Given the description of an element on the screen output the (x, y) to click on. 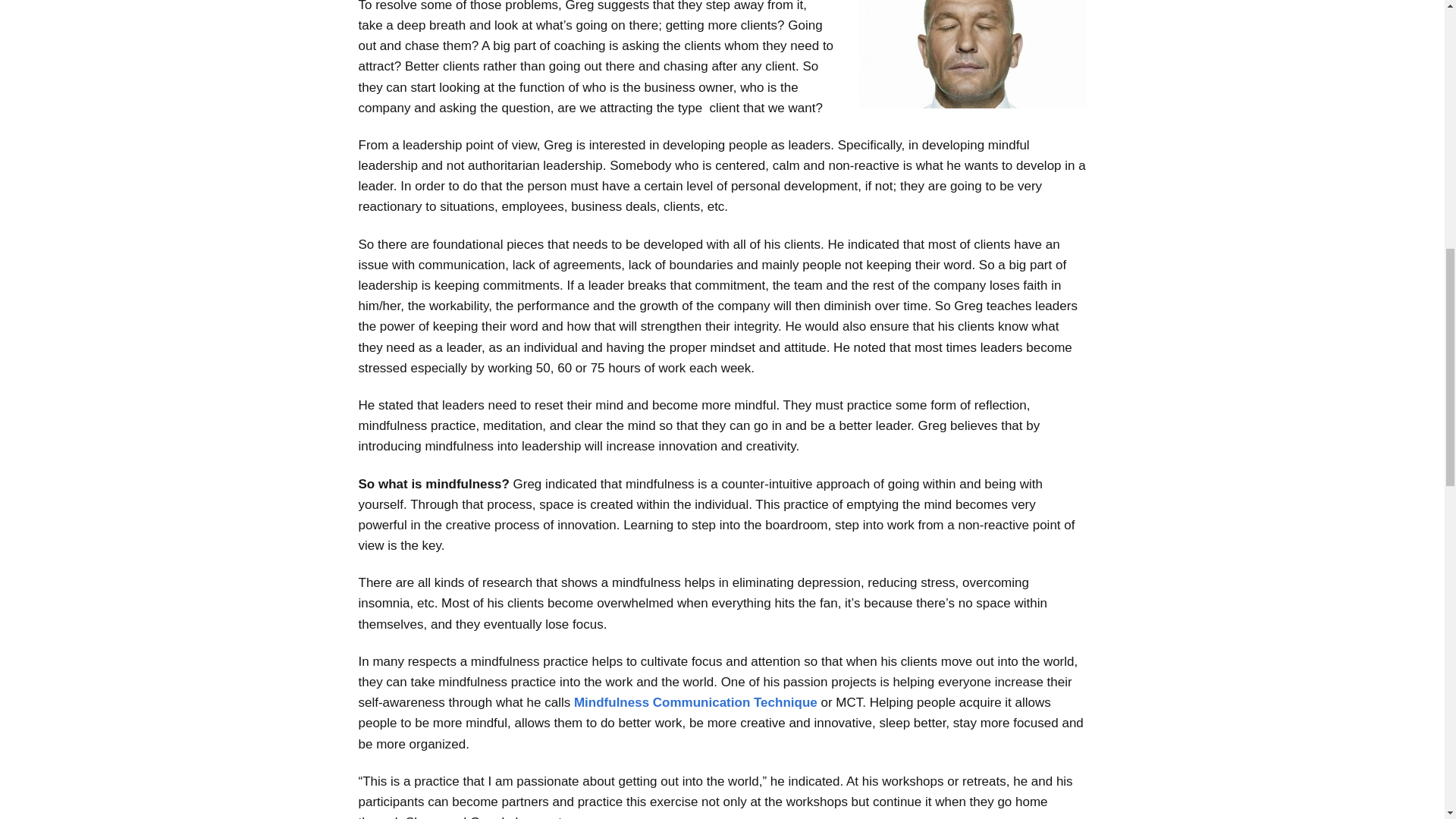
Mindfulness Communication Technique (697, 702)
